Given the description of an element on the screen output the (x, y) to click on. 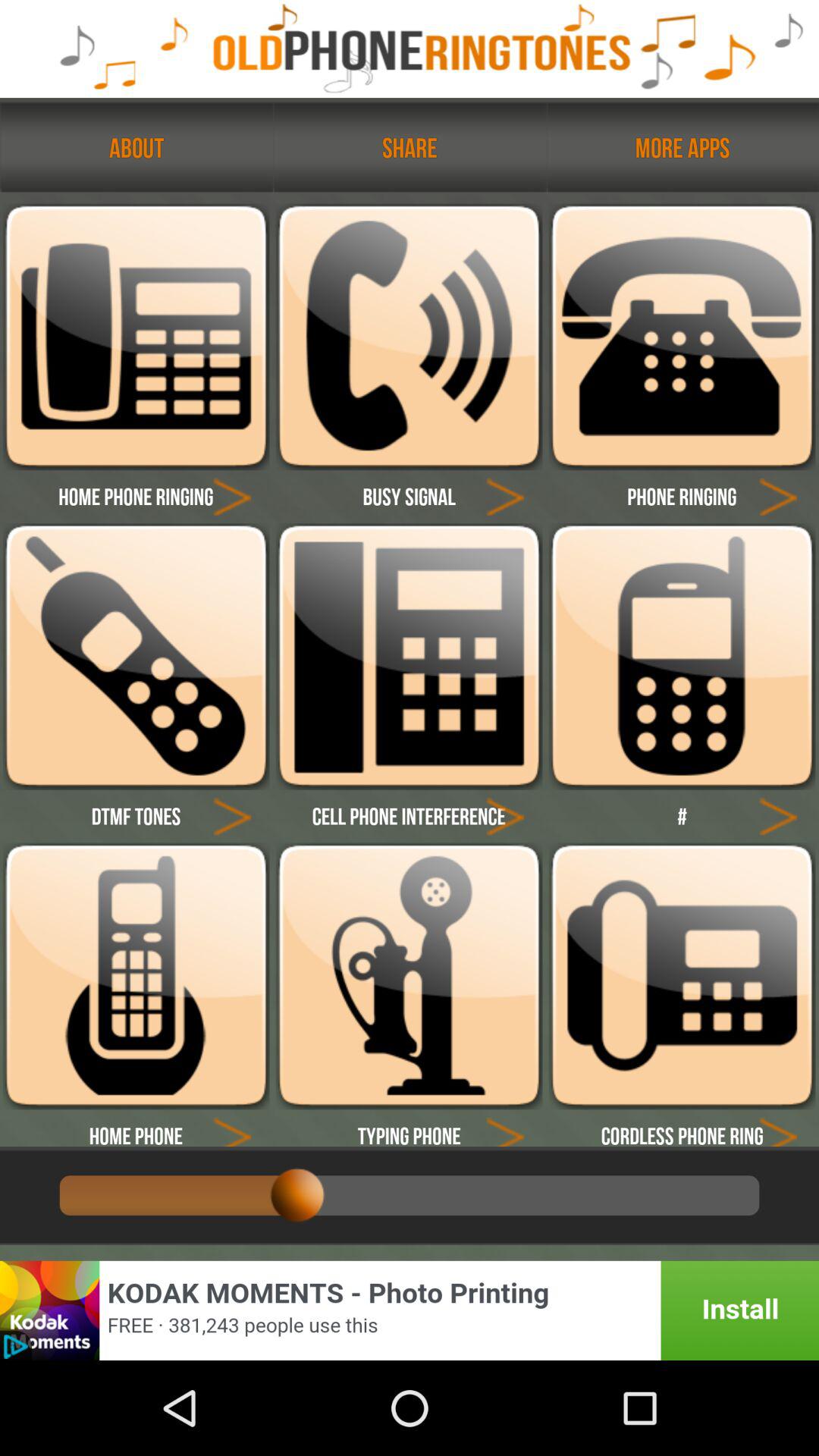
call (681, 656)
